Given the description of an element on the screen output the (x, y) to click on. 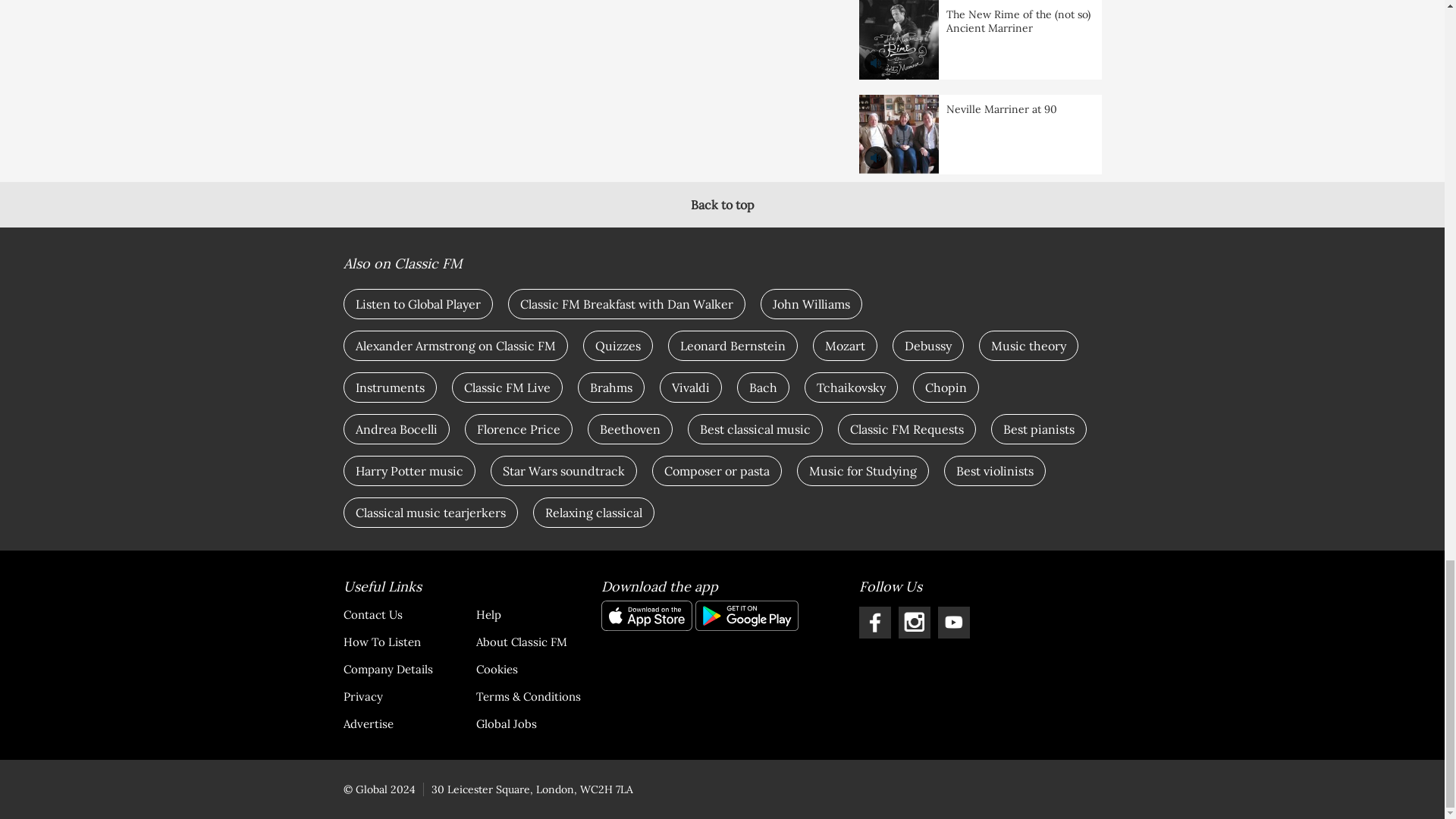
Follow Classic FM on Facebook (874, 622)
Back to top (722, 204)
Follow Classic FM on Instagram (914, 622)
Follow Classic FM on Youtube (953, 622)
